Given the description of an element on the screen output the (x, y) to click on. 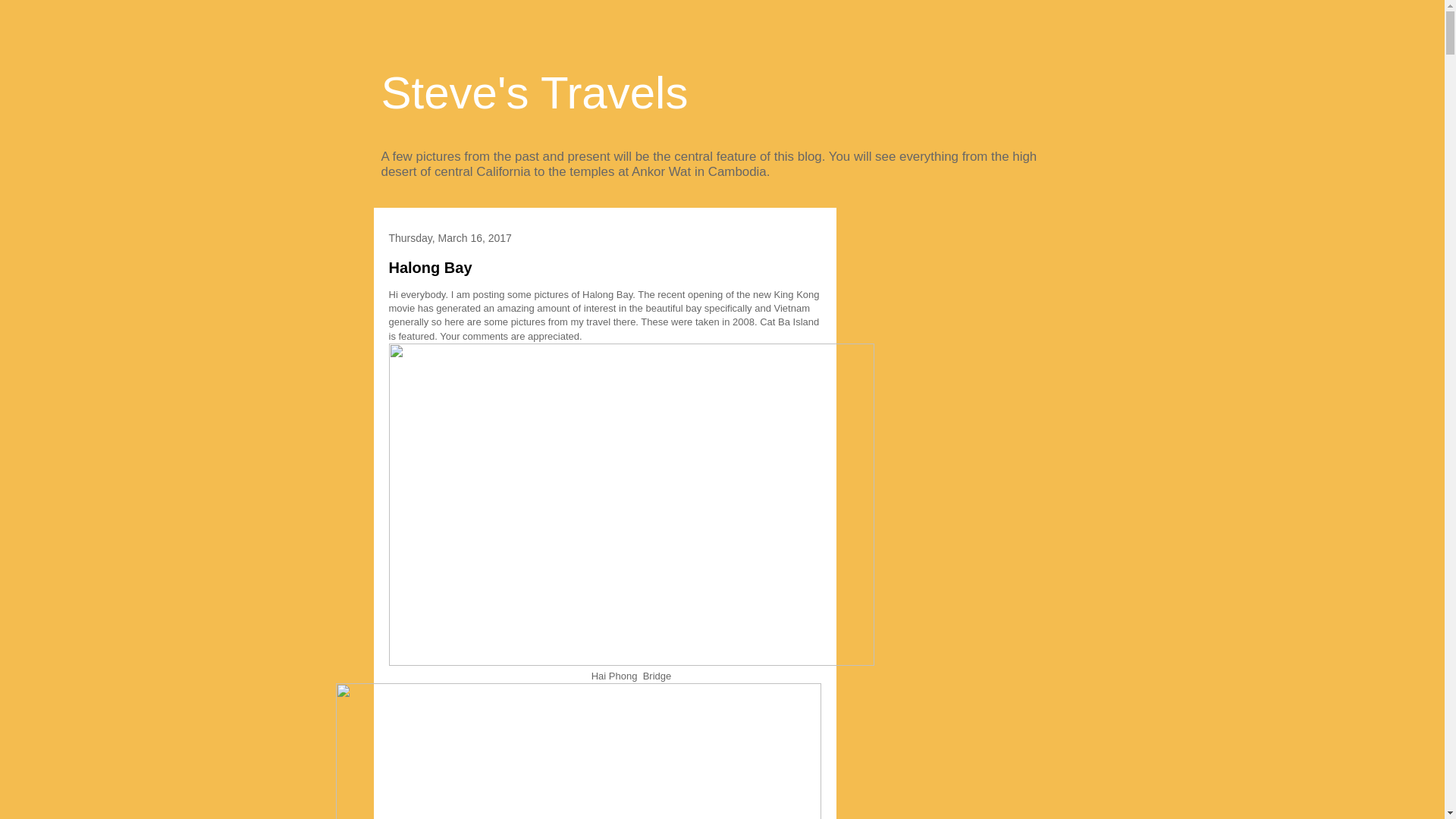
Steve's Travels (533, 92)
Halong Bay (429, 267)
